Given the description of an element on the screen output the (x, y) to click on. 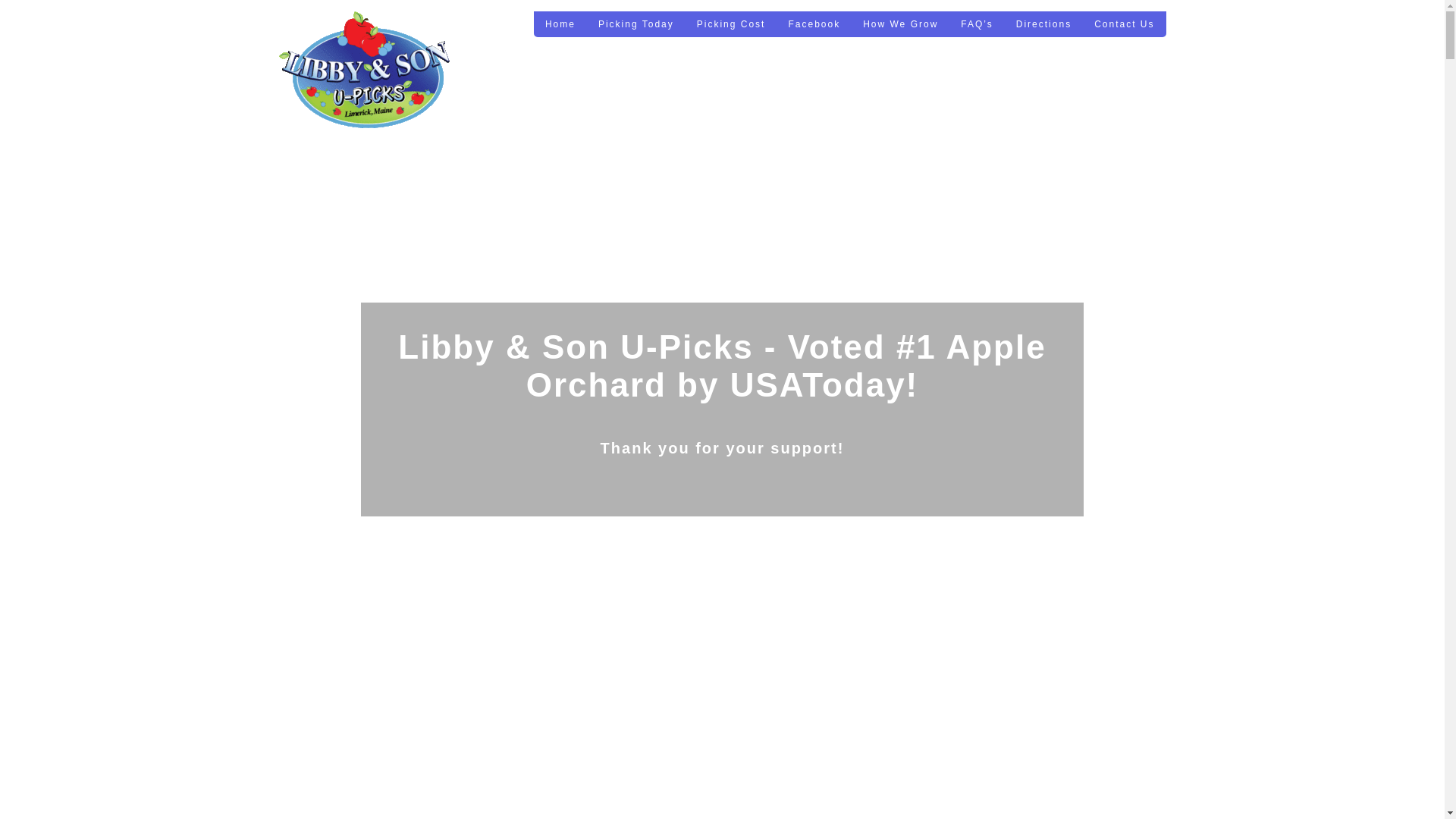
Home (559, 23)
Directions (1043, 23)
How We Grow (900, 23)
How We Grow (900, 23)
Contact Us (1124, 23)
Directions (1043, 23)
Picking Today (636, 23)
Home (559, 23)
Picking Today (636, 23)
Facebook (813, 23)
Picking Cost (731, 23)
Picking Cost (731, 23)
Contact Us (1124, 23)
Facebook (813, 23)
